Given the description of an element on the screen output the (x, y) to click on. 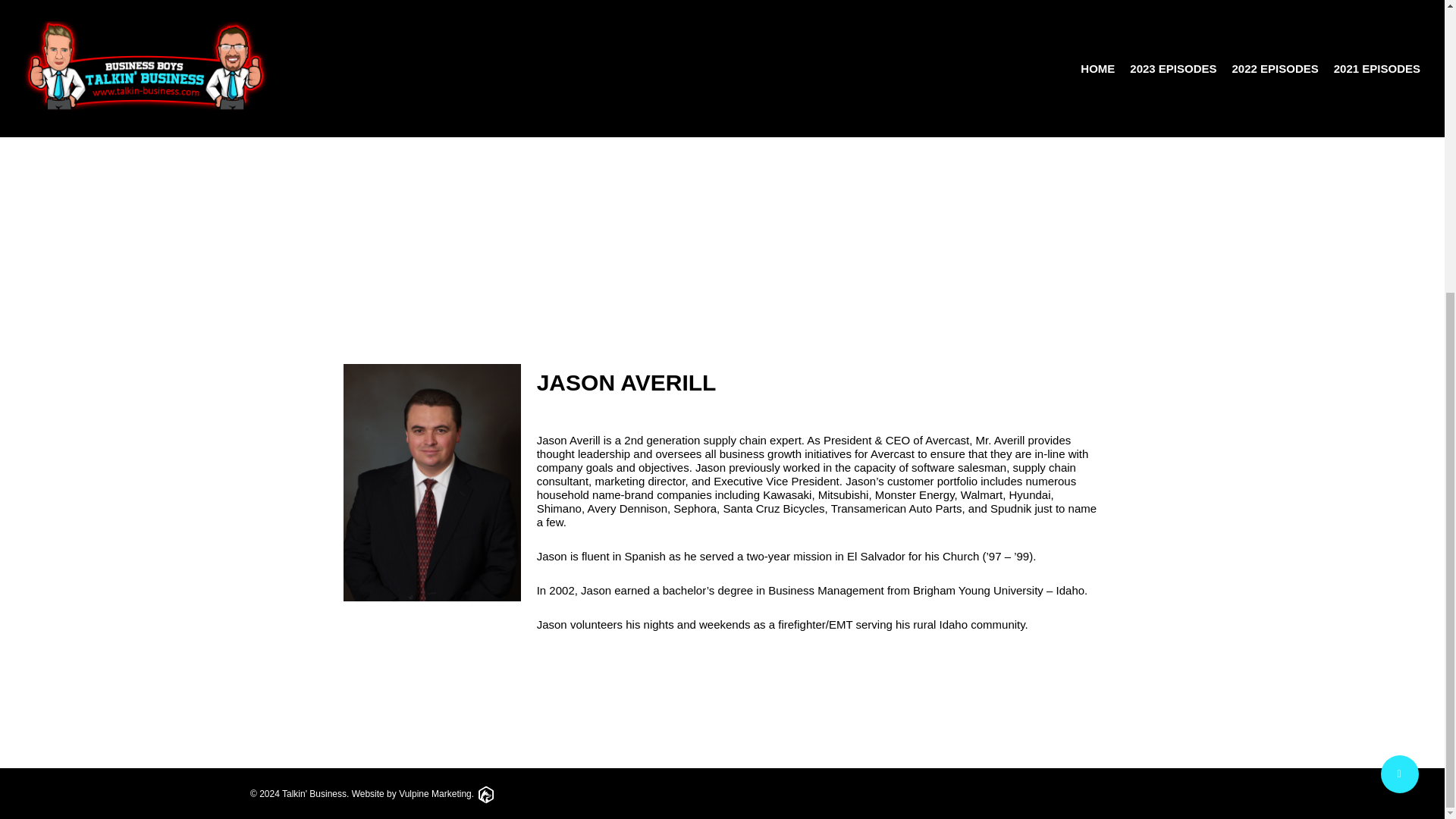
Website by Vulpine Marketing. (423, 793)
